Given the description of an element on the screen output the (x, y) to click on. 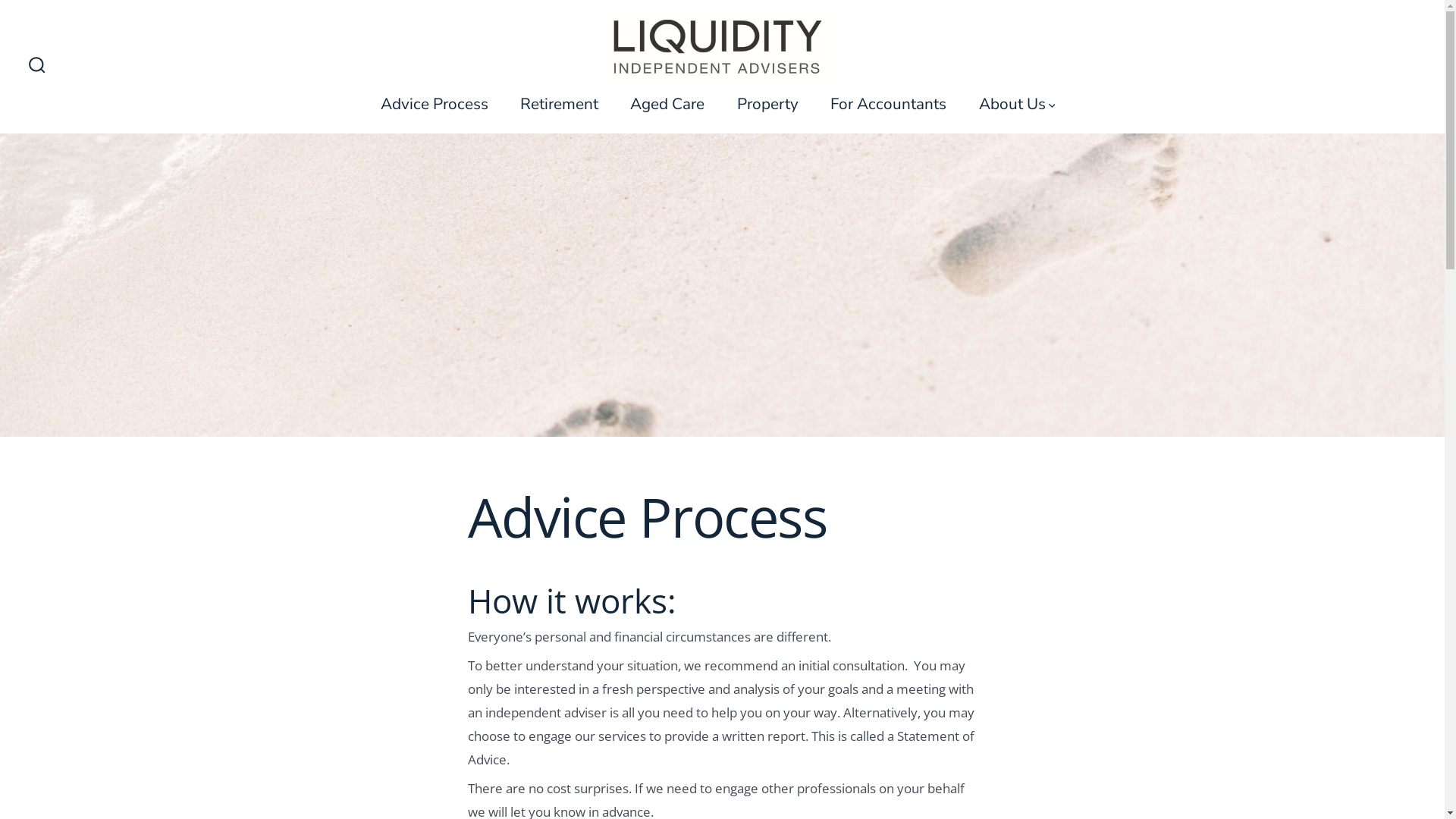
Search Toggle Element type: text (36, 66)
About Us Element type: text (1017, 103)
Advice Process Element type: text (434, 103)
Retirement Element type: text (559, 103)
Property Element type: text (767, 103)
Aged Care Element type: text (667, 103)
For Accountants Element type: text (888, 103)
